Given the description of an element on the screen output the (x, y) to click on. 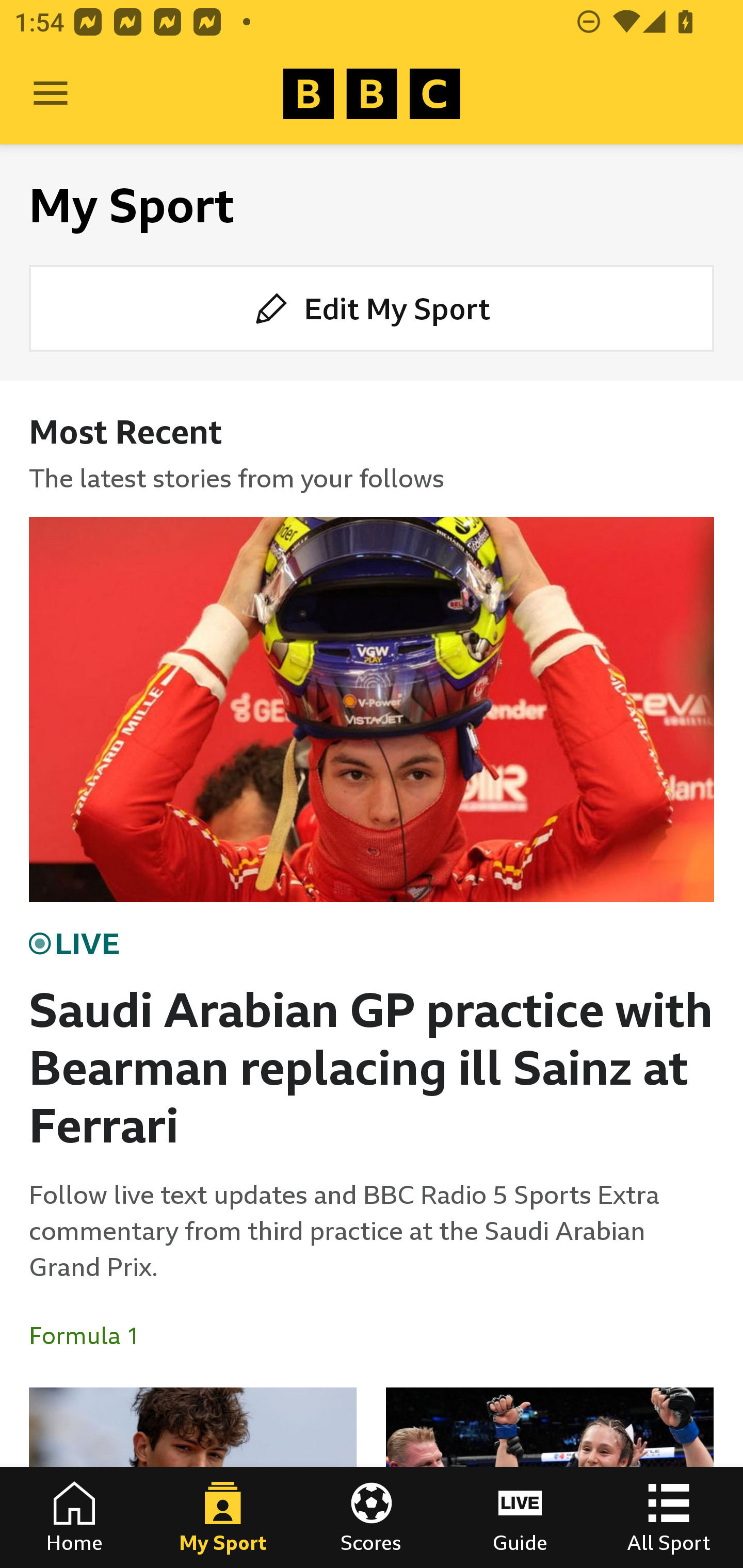
Open Menu (50, 93)
Edit My Sport (371, 307)
Home (74, 1517)
Scores (371, 1517)
Guide (519, 1517)
All Sport (668, 1517)
